Given the description of an element on the screen output the (x, y) to click on. 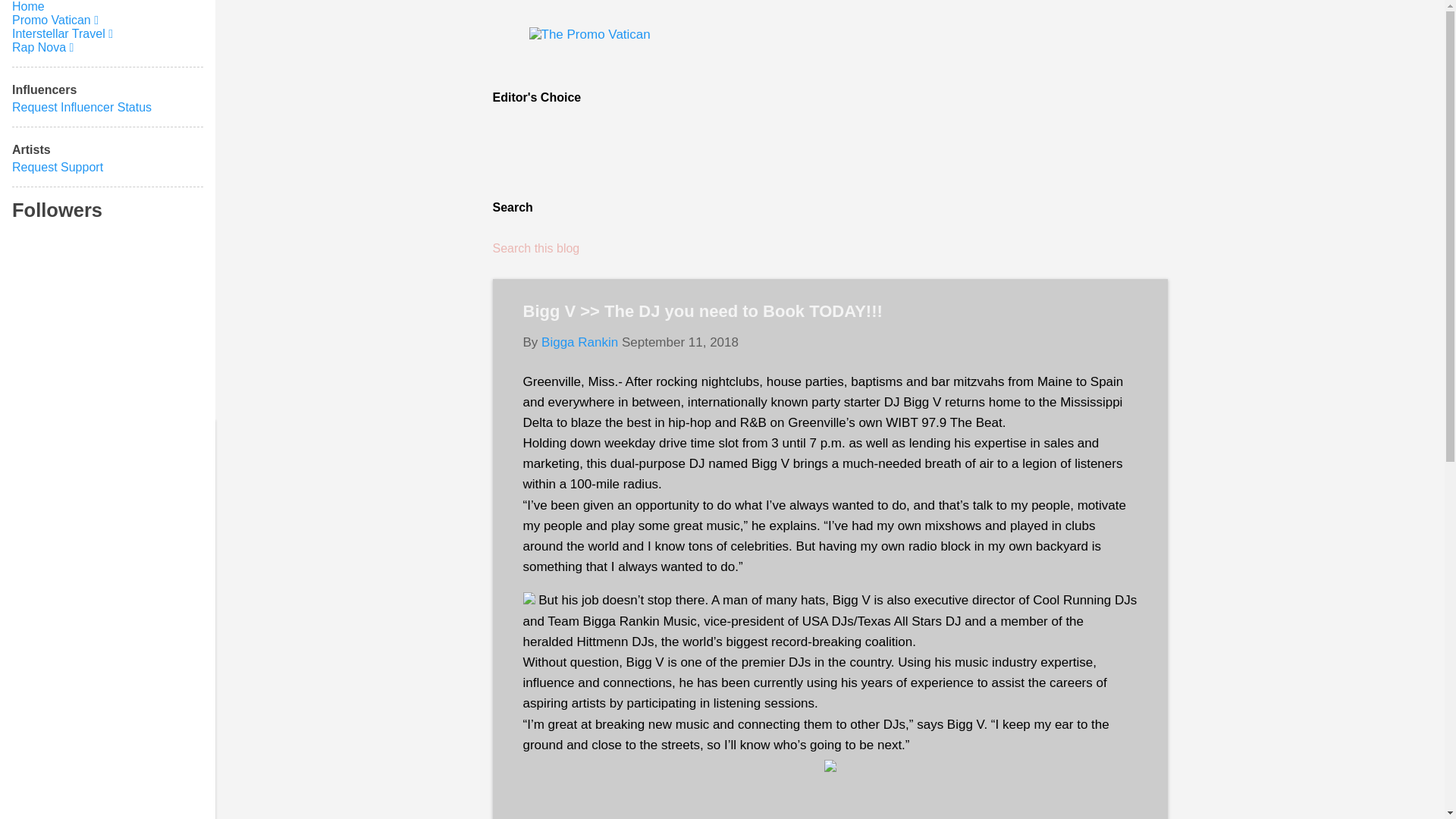
Home (28, 6)
author profile (579, 341)
Request Influencer Status (81, 106)
Bigga Rankin (579, 341)
Search (33, 18)
September 11, 2018 (679, 341)
Request Support (57, 166)
permanent link (679, 341)
